Given the description of an element on the screen output the (x, y) to click on. 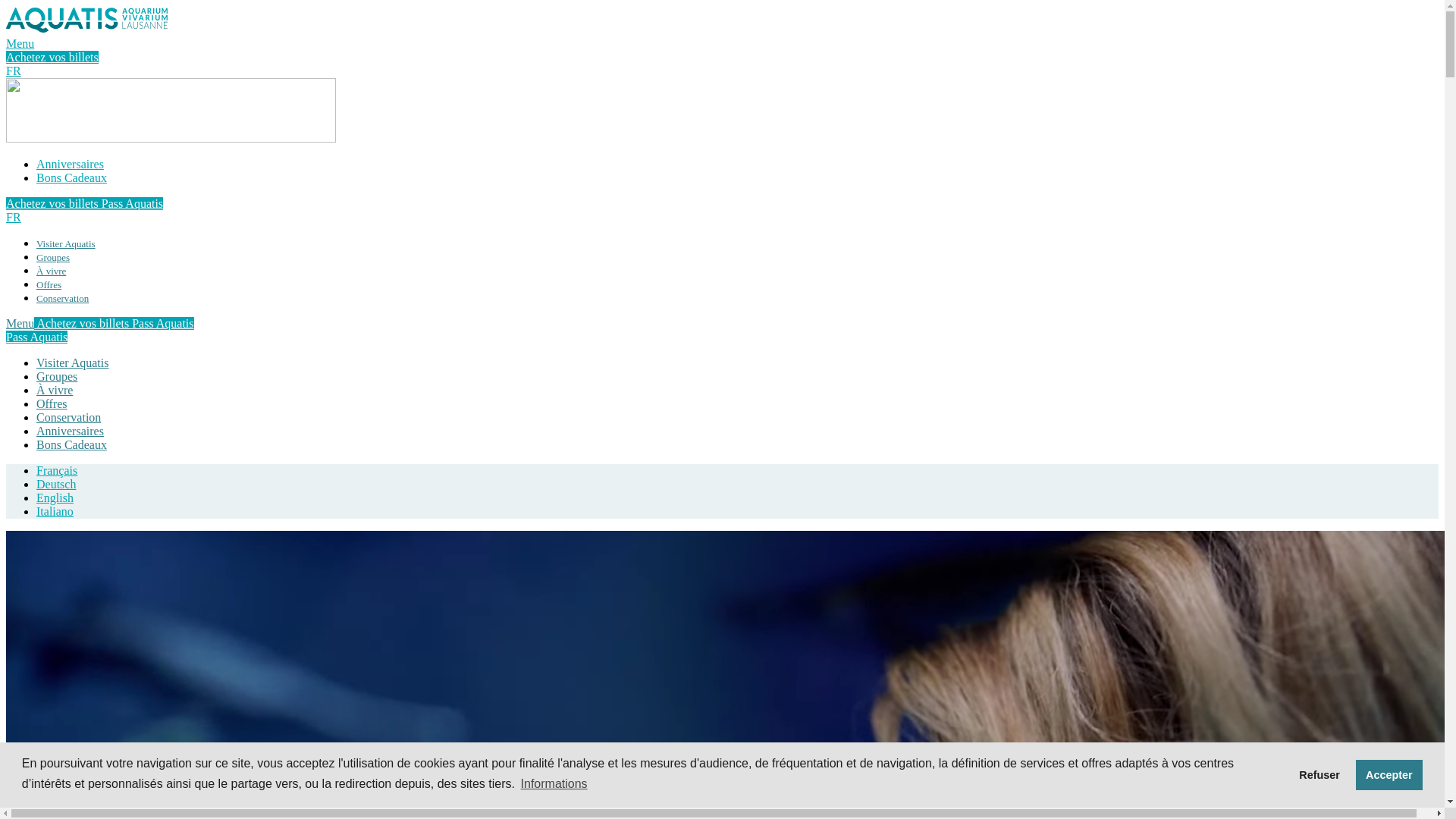
Bons Cadeaux Element type: text (71, 177)
Conservation Element type: text (62, 298)
Achetez vos billets Element type: text (52, 56)
FR Element type: text (13, 70)
Pass Aquatis Element type: text (36, 336)
Italiano Element type: text (54, 511)
Pass Aquatis Element type: text (132, 203)
Groupes Element type: text (56, 376)
Offres Element type: text (48, 284)
FR Element type: text (13, 216)
Menu Element type: text (20, 322)
Visiter Aquatis Element type: text (65, 243)
Menu Element type: text (20, 43)
Refuser Element type: text (1319, 774)
English Element type: text (54, 497)
Deutsch Element type: text (55, 483)
Offres Element type: text (51, 403)
Groupes Element type: text (52, 257)
Informations Element type: text (553, 783)
Visiter Aquatis Element type: text (72, 362)
Anniversaires Element type: text (69, 430)
Bons Cadeaux Element type: text (71, 444)
Achetez vos billets Element type: text (53, 203)
Anniversaires Element type: text (69, 163)
Conservation Element type: text (68, 417)
Pass Aquatis Element type: text (162, 322)
Achetez vos billets Element type: text (82, 322)
Accepter Element type: text (1389, 774)
